Given the description of an element on the screen output the (x, y) to click on. 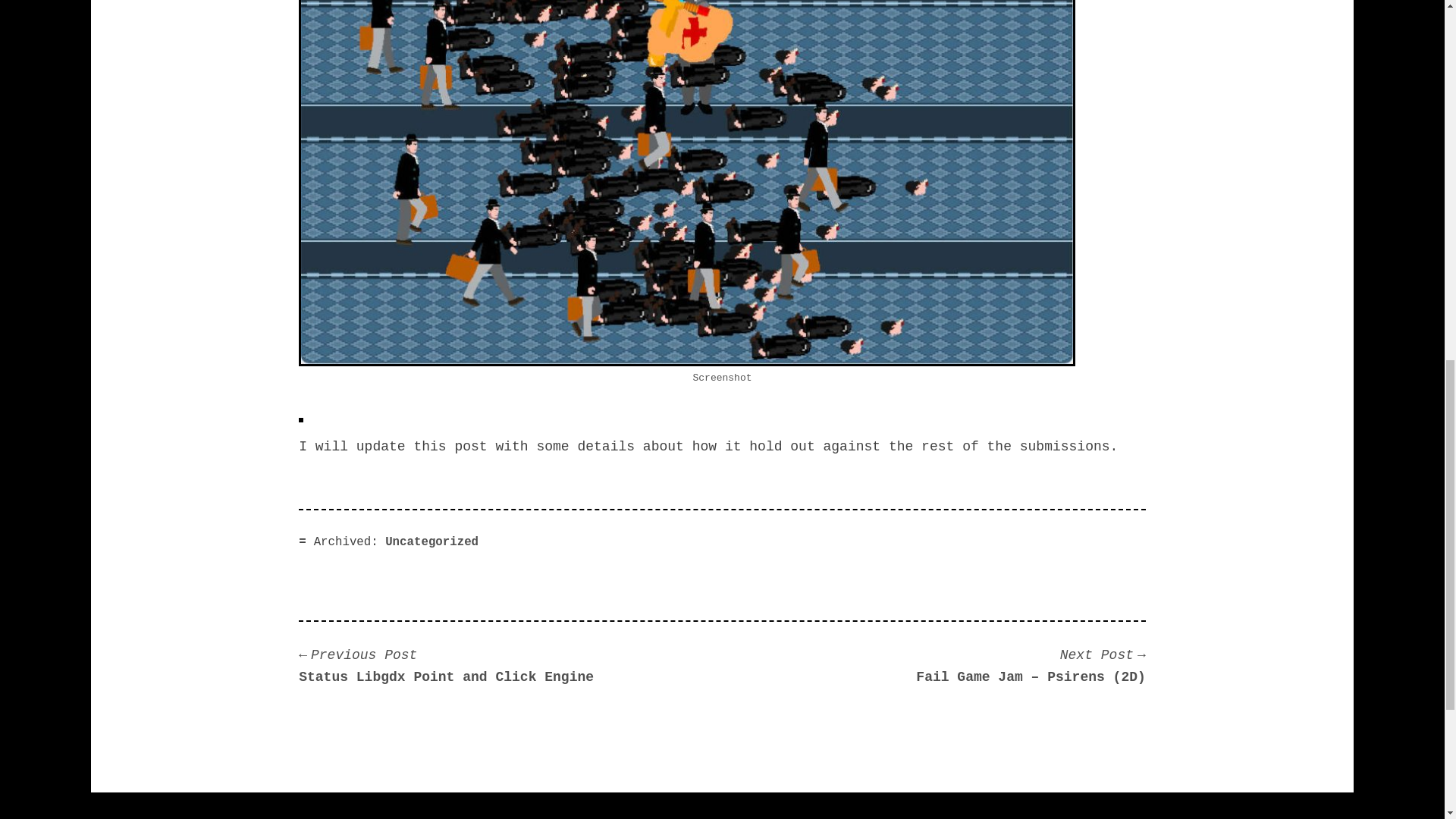
Uncategorized (432, 541)
